Given the description of an element on the screen output the (x, y) to click on. 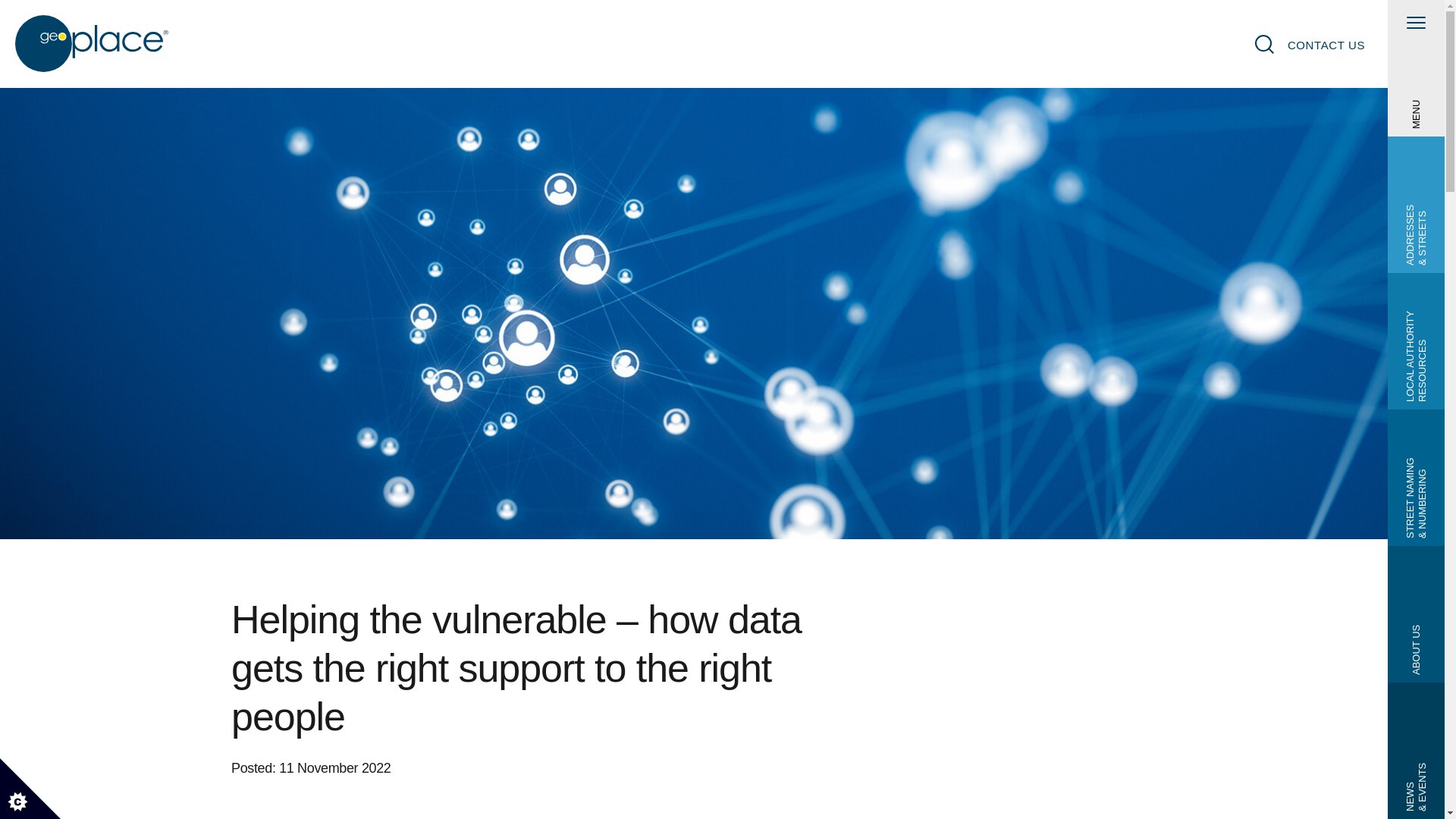
Home (92, 43)
CONTACT US (1326, 44)
Show search (1264, 44)
